Given the description of an element on the screen output the (x, y) to click on. 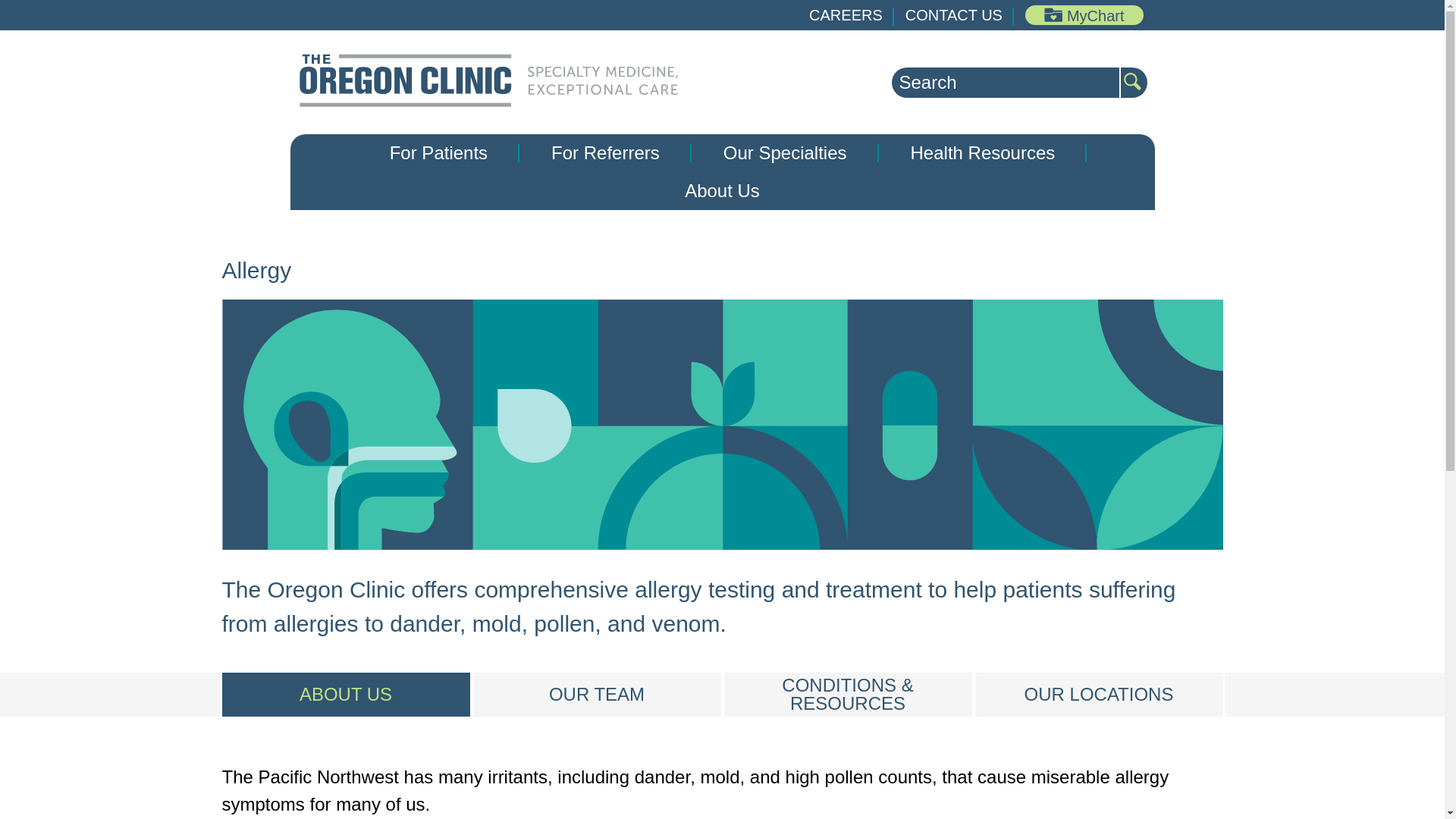
CONTACT US (954, 15)
MyChart (1083, 14)
CAREERS (845, 15)
Search for: (1005, 81)
